Given the description of an element on the screen output the (x, y) to click on. 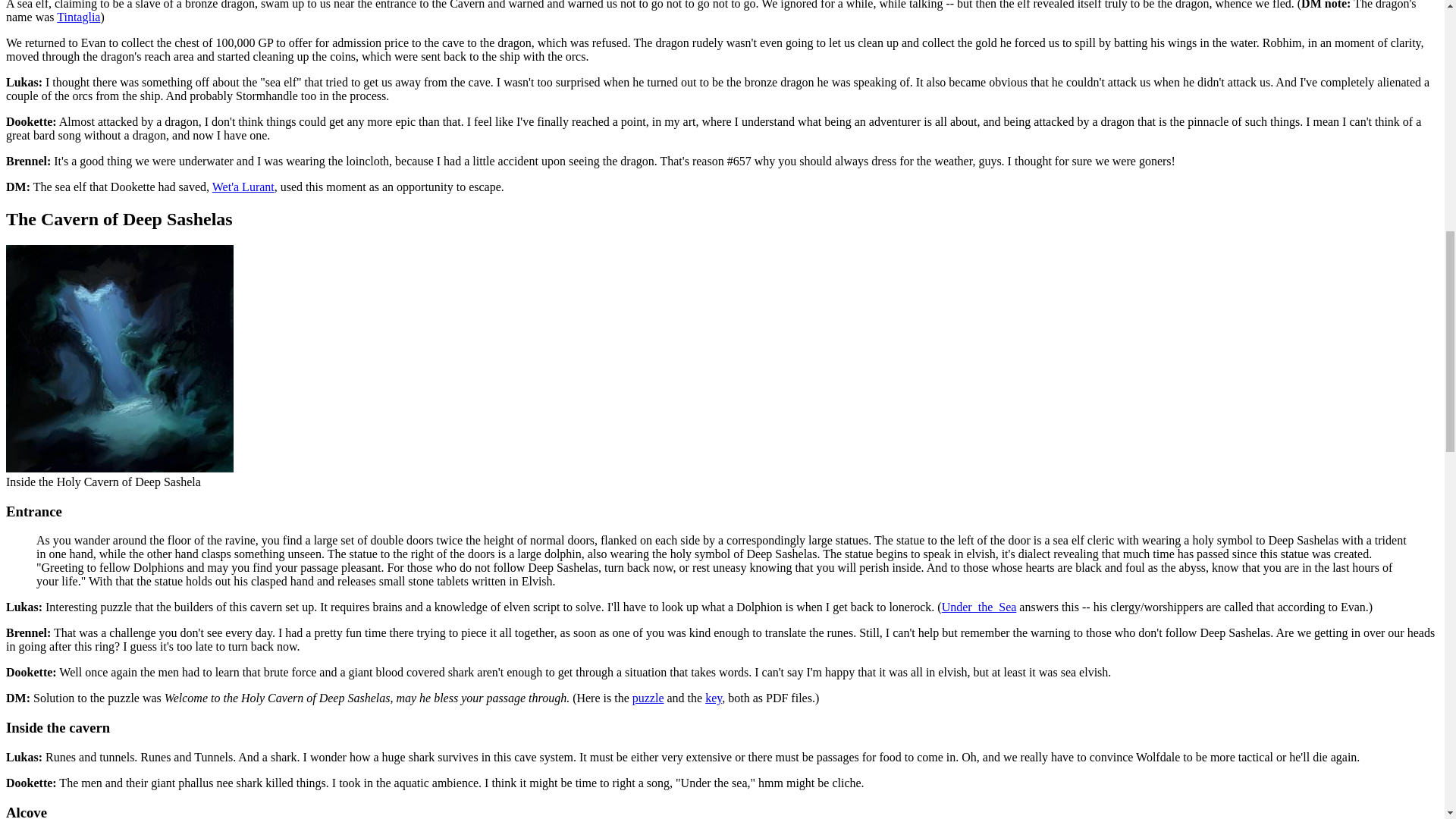
key (713, 697)
Elvishtoenglish.pdf (713, 697)
Tintaglia (78, 16)
puzzle (647, 697)
Entrance puzzle.pdf (647, 697)
Wet'a Lurant (243, 186)
